Given the description of an element on the screen output the (x, y) to click on. 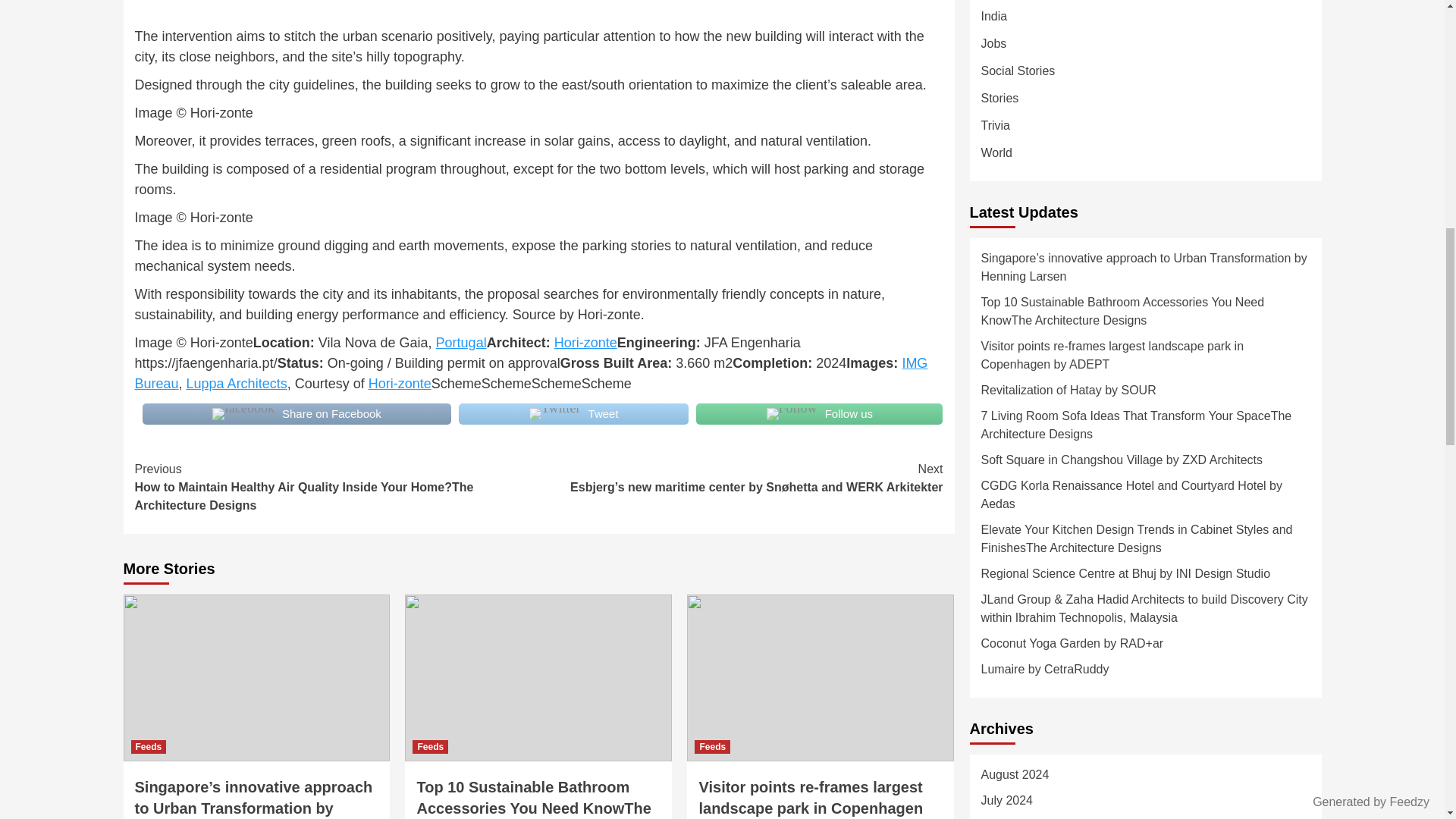
Feeds (712, 746)
Portugal (460, 342)
Share on Facebook (296, 413)
Feeds (148, 746)
Hori-zonte (399, 383)
Hori-zonte (585, 342)
IMG Bureau (531, 373)
Tweet (573, 413)
